Given the description of an element on the screen output the (x, y) to click on. 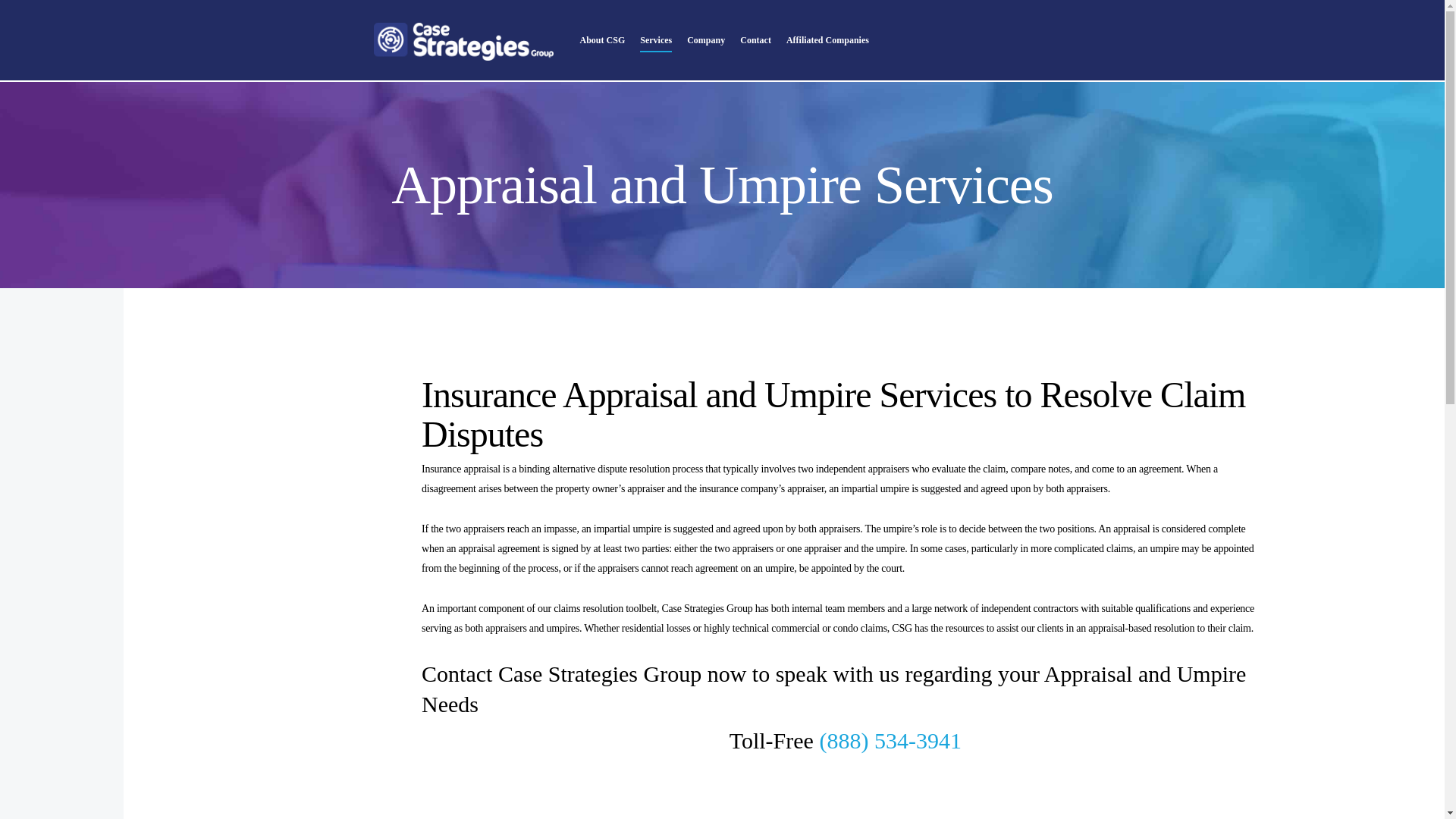
Affiliated Companies (827, 51)
